Given the description of an element on the screen output the (x, y) to click on. 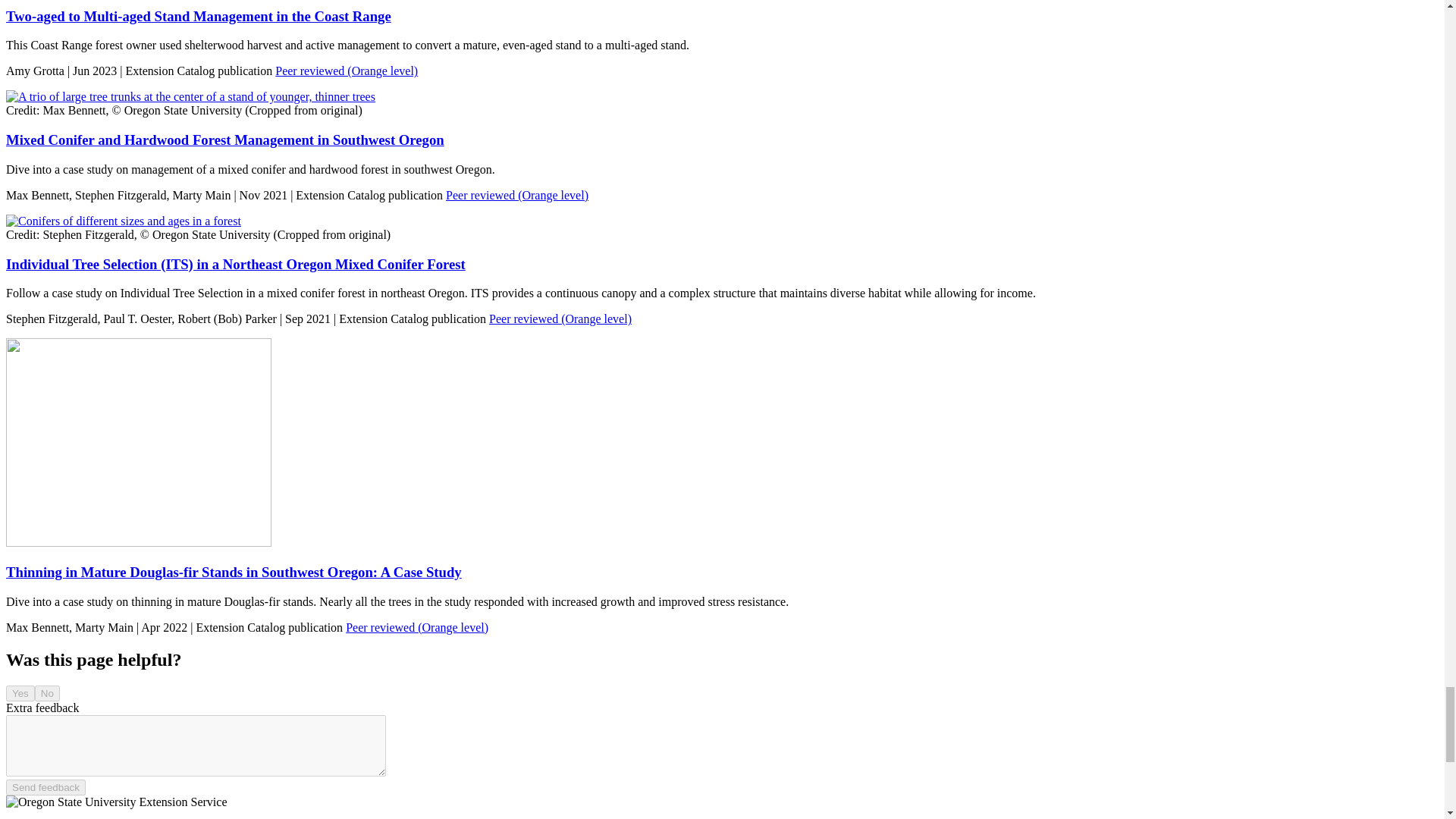
Peer reviewed (346, 70)
Comment (195, 744)
Peer reviewed (516, 195)
Peer reviewed (416, 626)
Peer reviewed (560, 318)
